Given the description of an element on the screen output the (x, y) to click on. 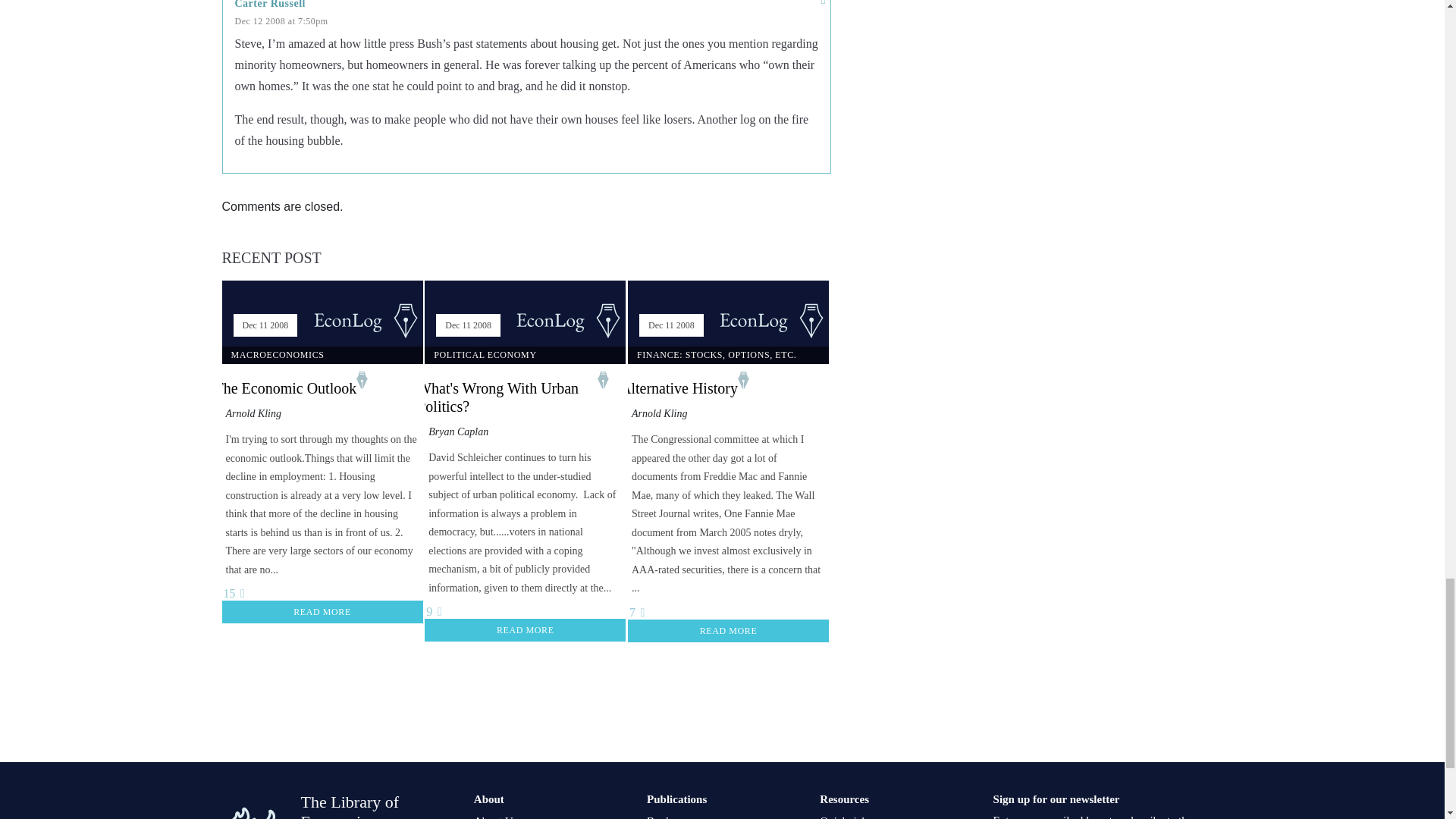
Arnold Kling (659, 413)
Bryan Caplan (457, 431)
Arnold Kling (253, 413)
